Given the description of an element on the screen output the (x, y) to click on. 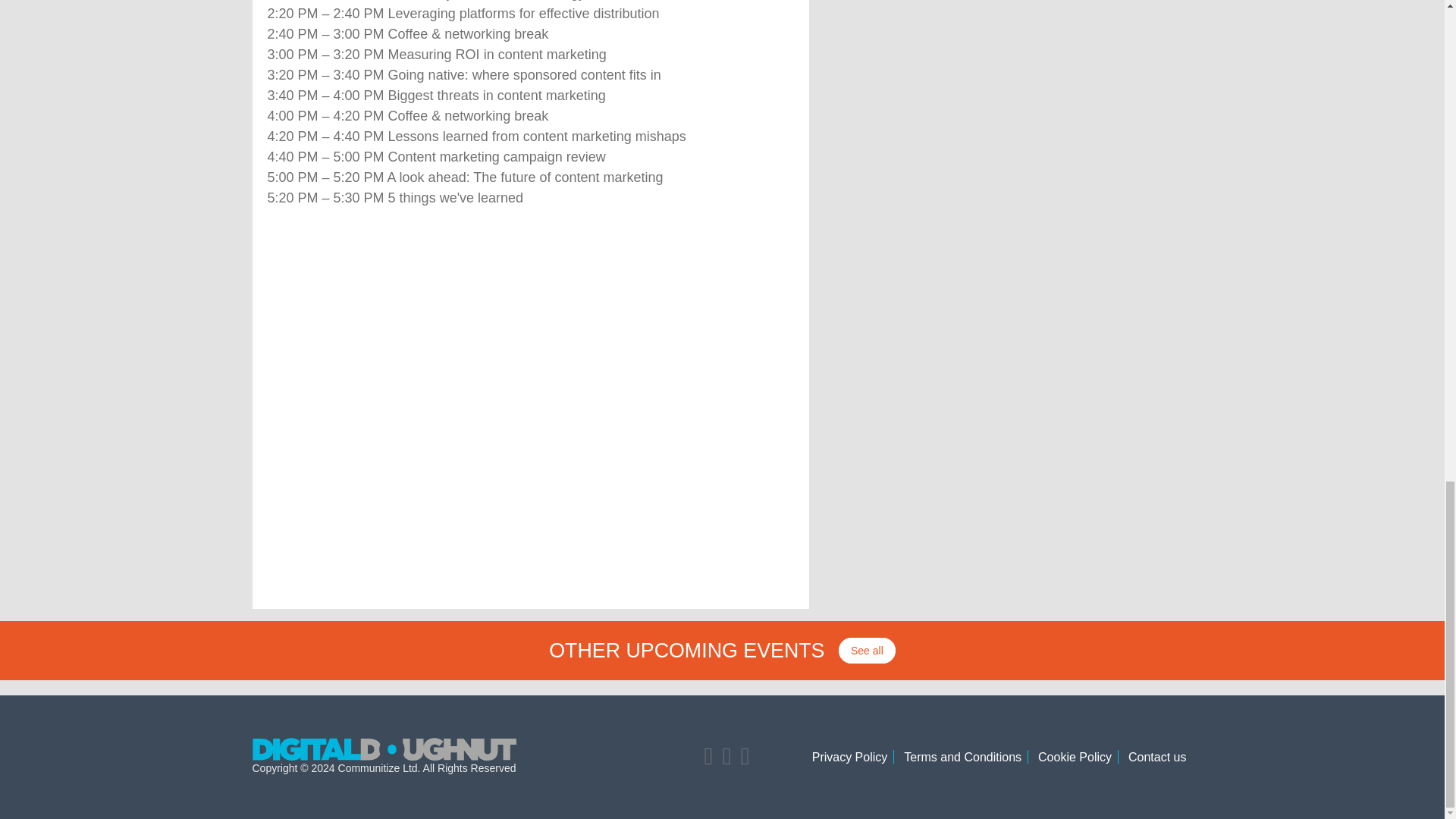
Privacy Policy (850, 757)
See all (866, 650)
Cookie Policy (1075, 757)
Contact us (1157, 757)
Terms and Conditions (963, 757)
